Given the description of an element on the screen output the (x, y) to click on. 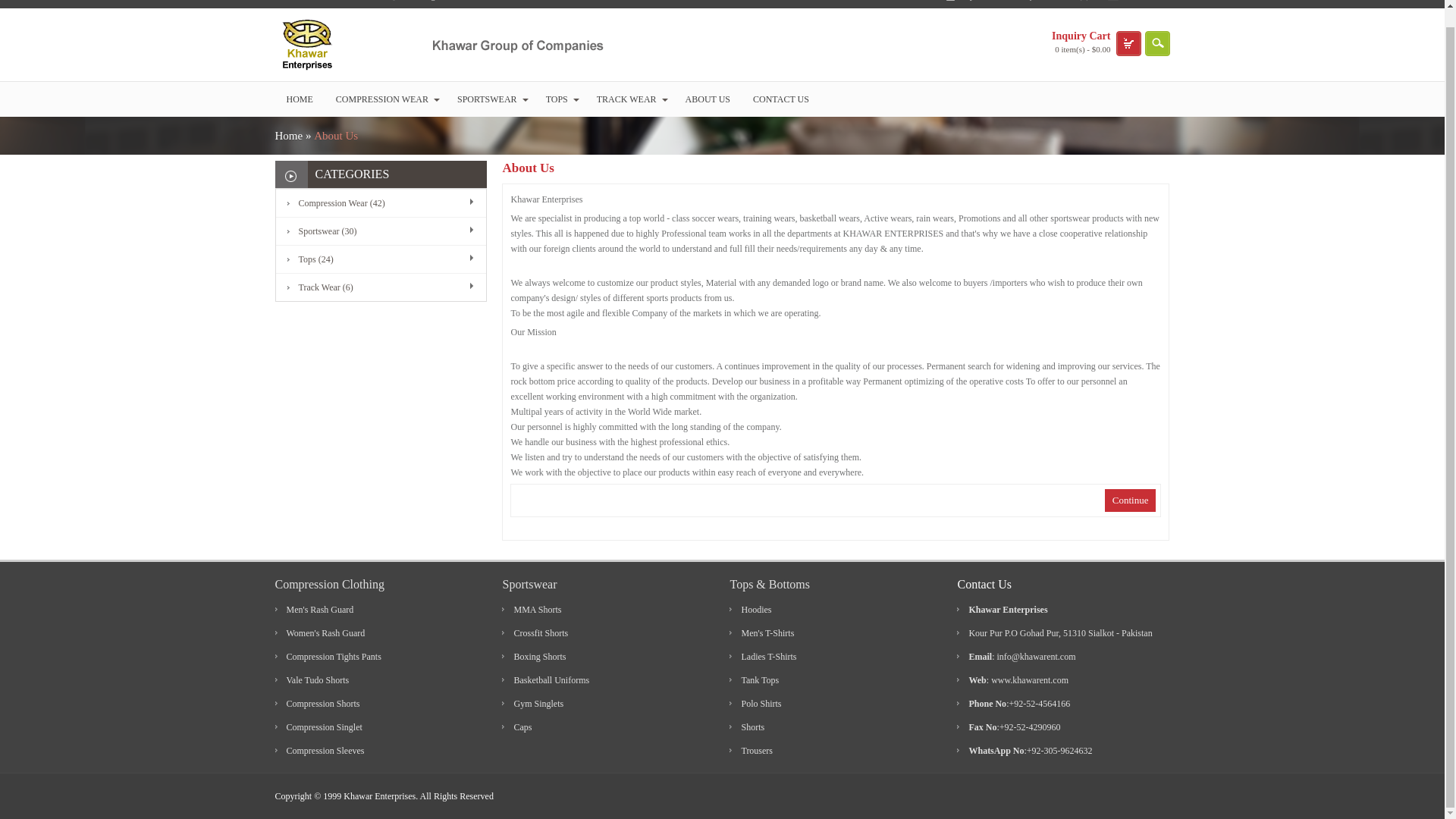
COMPRESSION WEAR (384, 99)
Checkout (1135, 4)
TOPS (559, 99)
Khawar Enterprises (438, 44)
create an account (486, 0)
HOME (299, 99)
My Account (978, 4)
SPORTSWEAR (489, 99)
search (1156, 43)
